Given the description of an element on the screen output the (x, y) to click on. 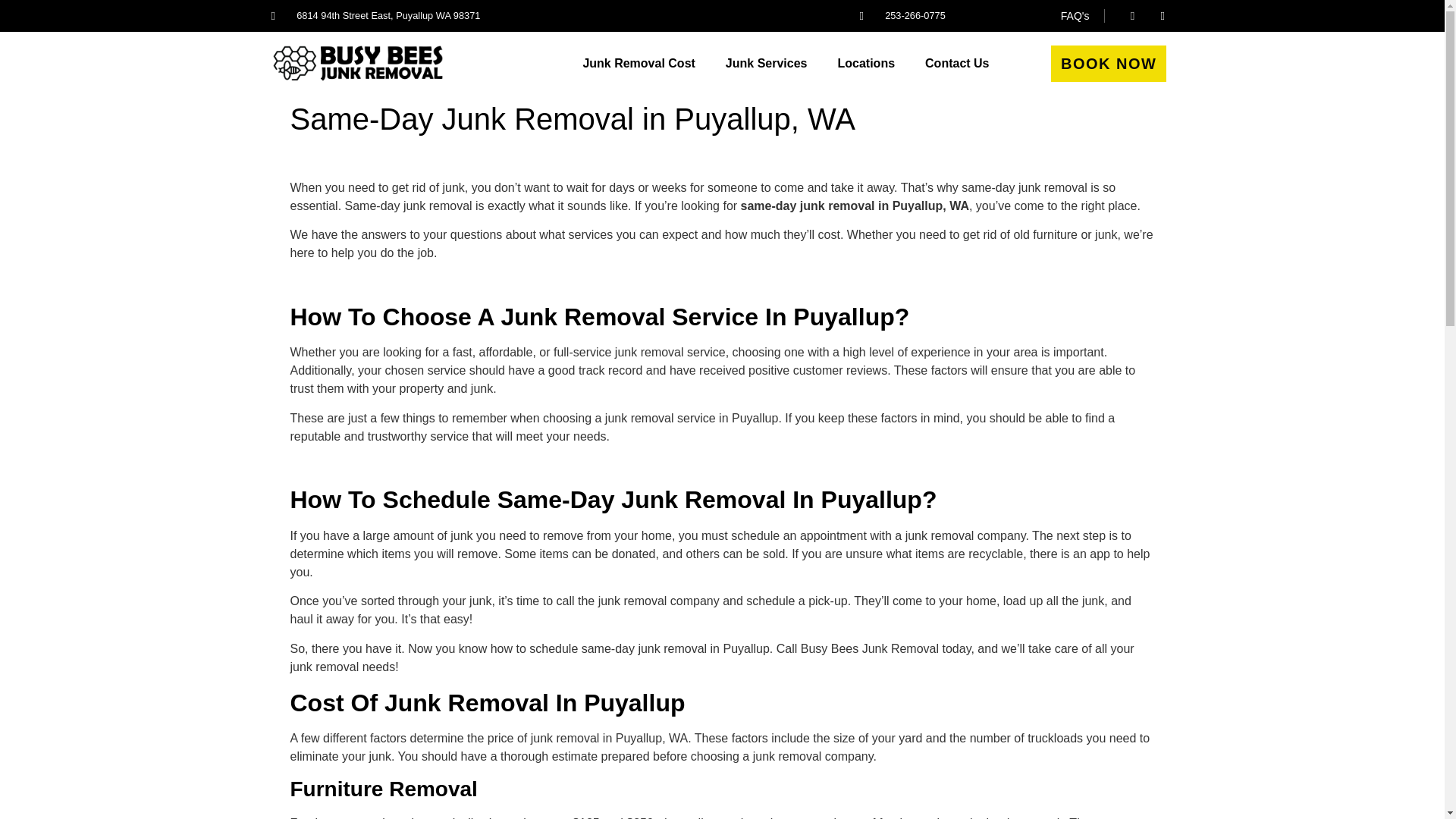
Junk Removal Cost (638, 63)
6814 94th Street East, Puyallup WA 98371 (375, 15)
Junk Services (766, 63)
FAQ's (1075, 15)
Locations (866, 63)
253-266-0775 (901, 15)
Contact Us (957, 63)
